Given the description of an element on the screen output the (x, y) to click on. 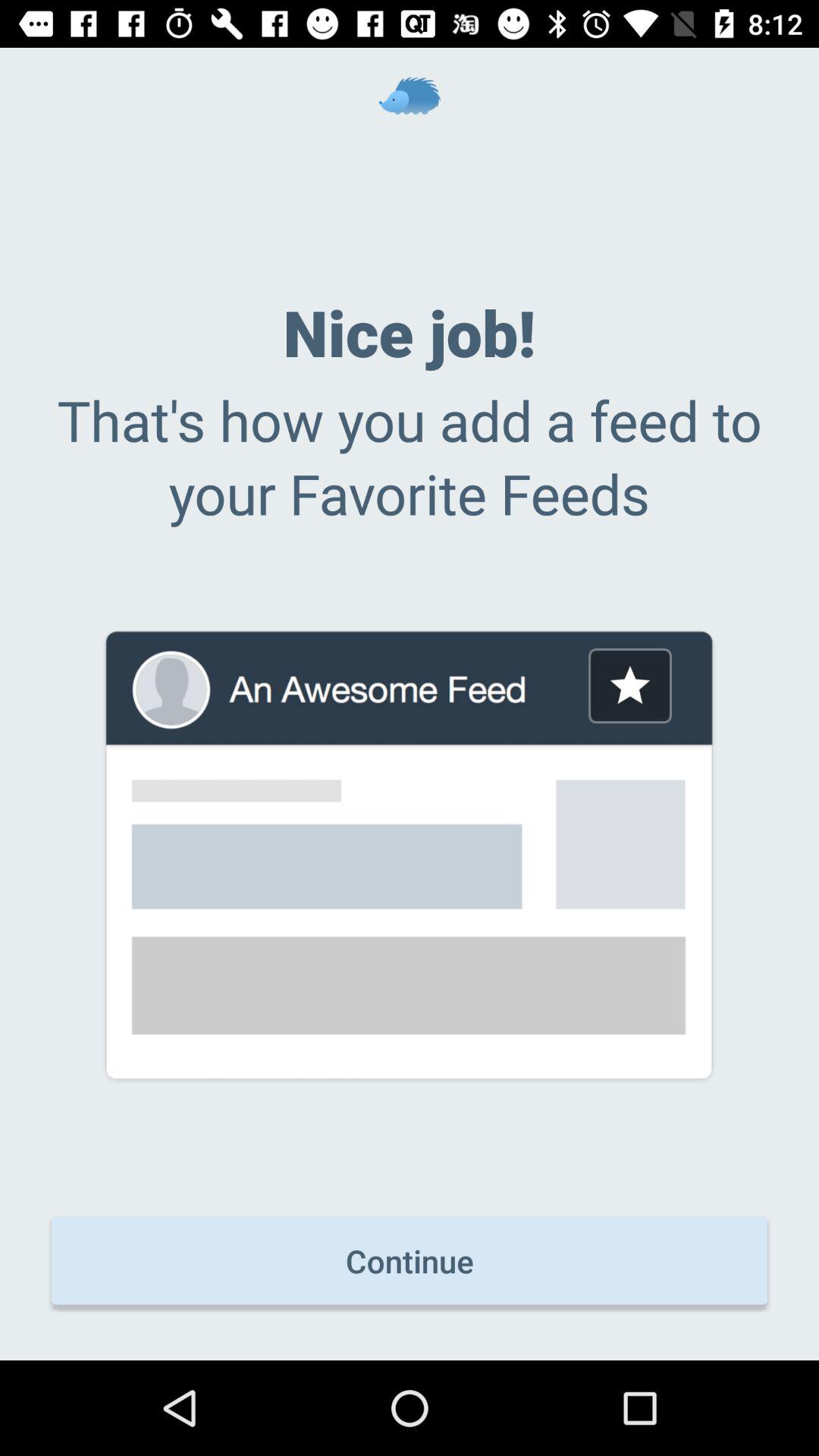
choose the item above the continue item (629, 685)
